Given the description of an element on the screen output the (x, y) to click on. 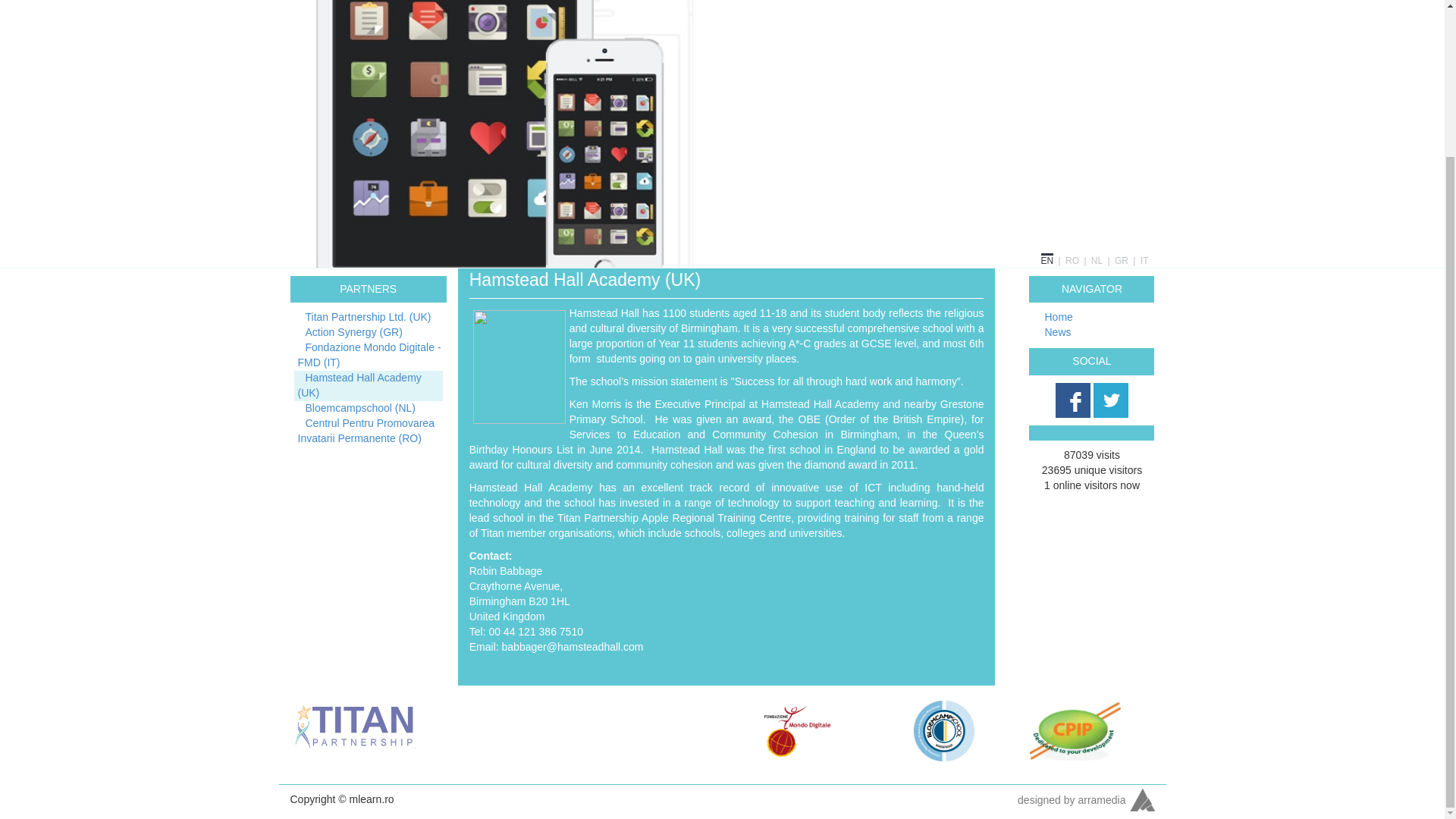
IT (1144, 260)
RO (1071, 260)
NL (1096, 260)
Home (1058, 316)
GR (1121, 260)
EN (1047, 259)
News (1057, 331)
